Given the description of an element on the screen output the (x, y) to click on. 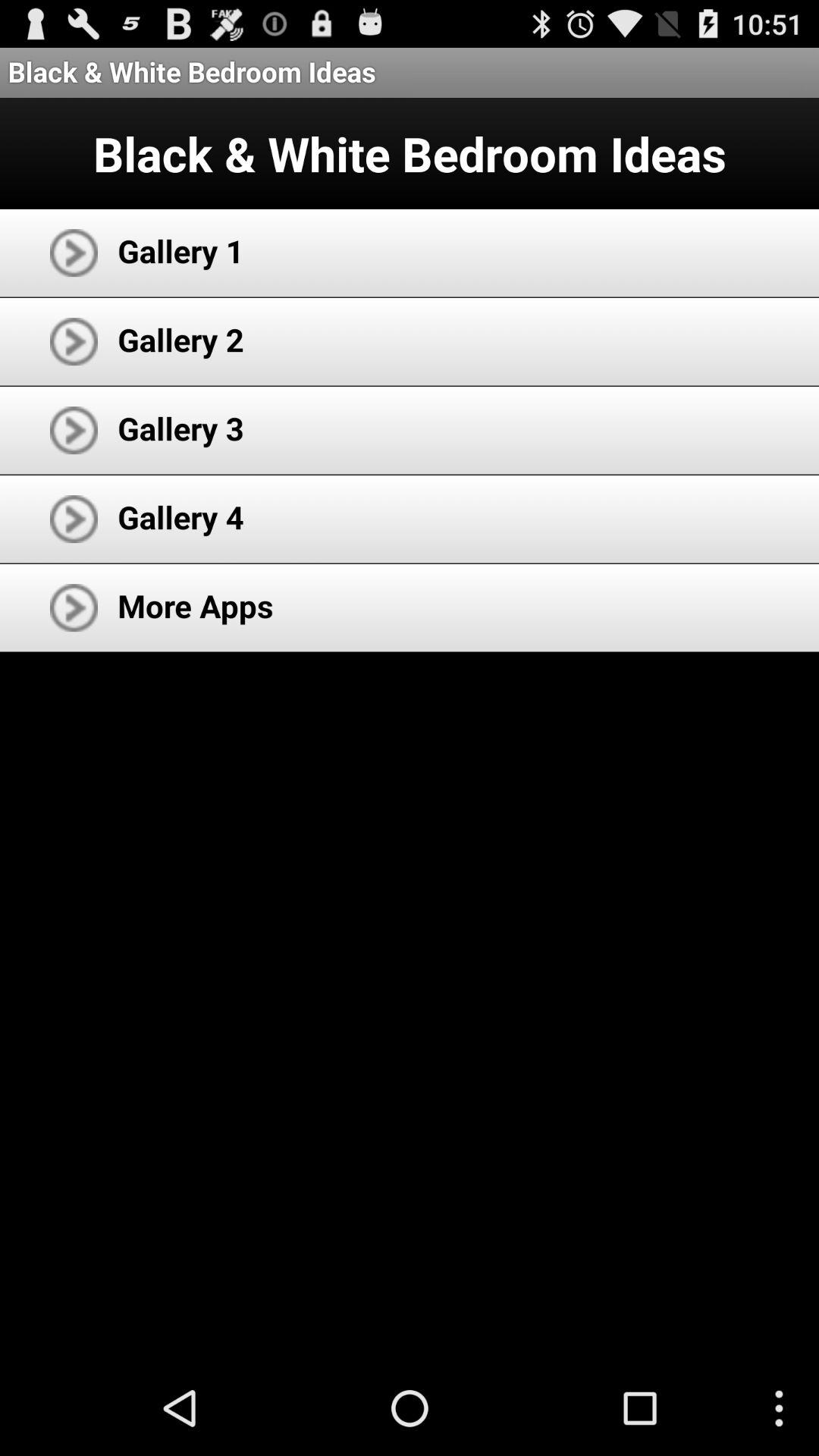
launch the gallery 1 icon (180, 250)
